Given the description of an element on the screen output the (x, y) to click on. 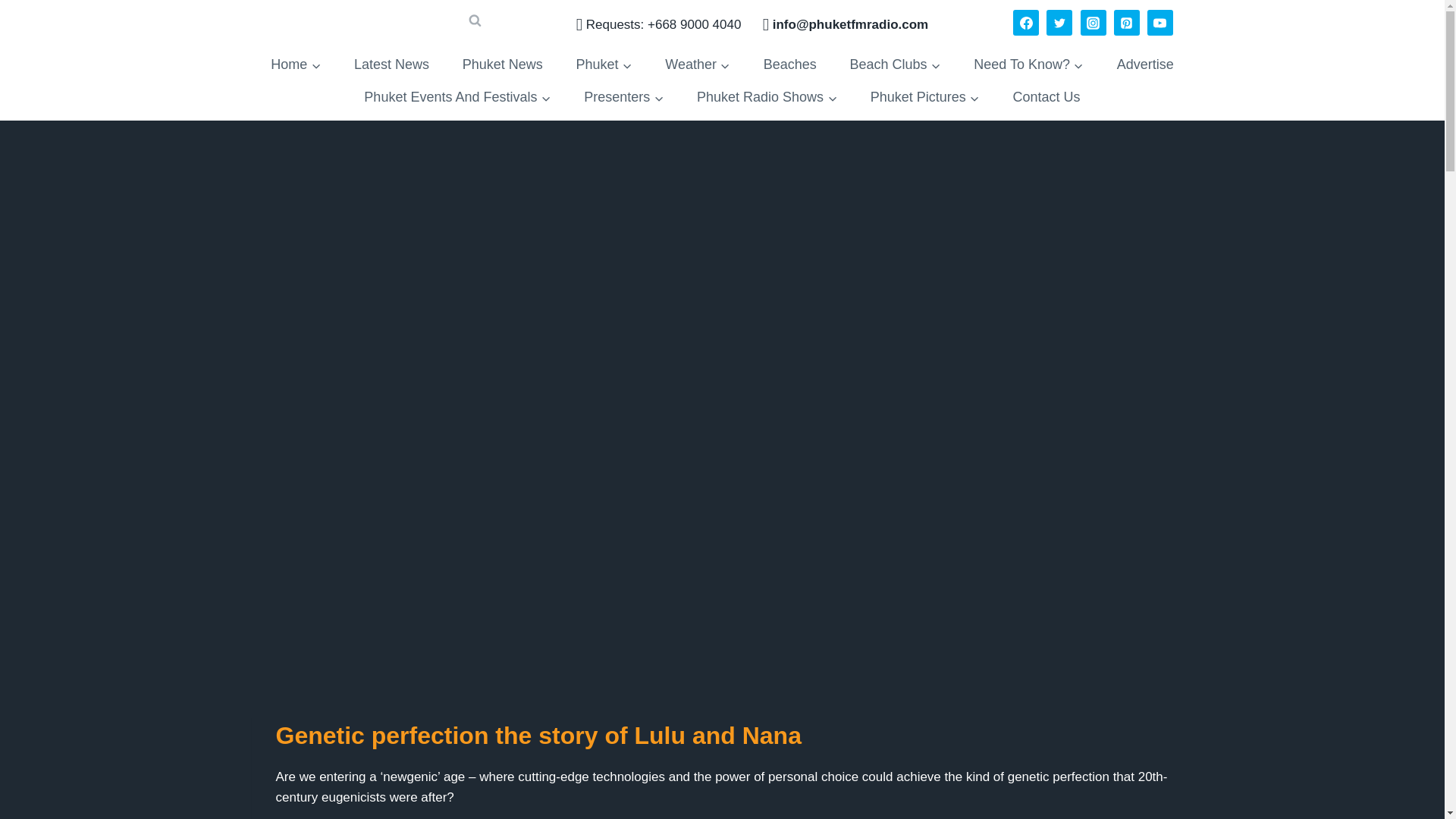
Presenters (623, 97)
Phuket (604, 64)
Beaches (789, 64)
Phuket News (502, 64)
Need To Know? (1027, 64)
Phuket Events And Festivals (457, 97)
Home (295, 64)
Beach Clubs (895, 64)
Latest News (391, 64)
Advertise (1145, 64)
Weather (696, 64)
